Given the description of an element on the screen output the (x, y) to click on. 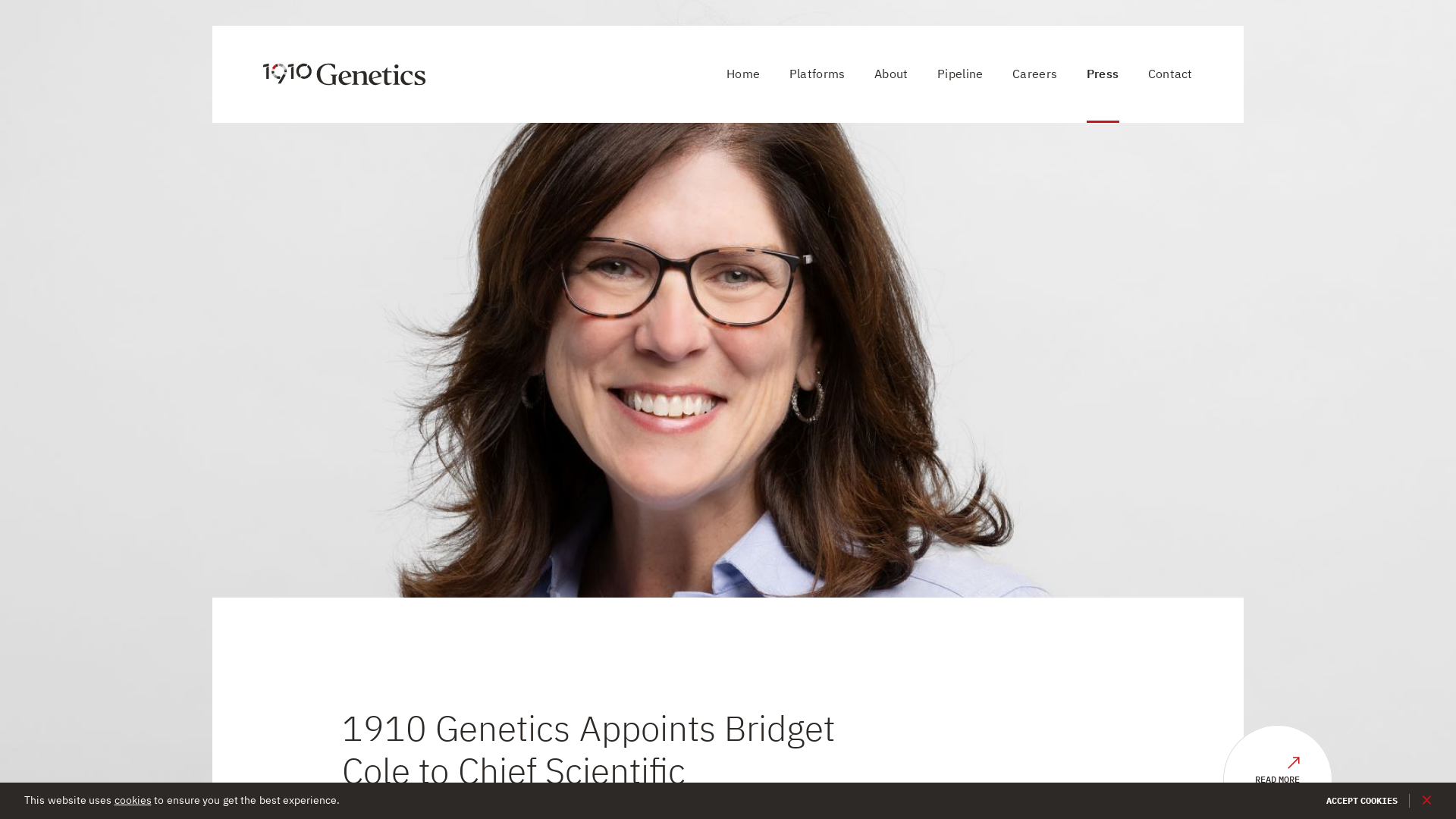
Platforms Element type: text (817, 73)
Home Element type: text (742, 73)
Contact Element type: text (1170, 73)
Press Element type: text (1102, 73)
About Element type: text (891, 73)
Pipeline Element type: text (960, 73)
cookies Element type: text (131, 799)
ACCEPT COOKIES Element type: text (1361, 800)
Careers Element type: text (1034, 73)
